Given the description of an element on the screen output the (x, y) to click on. 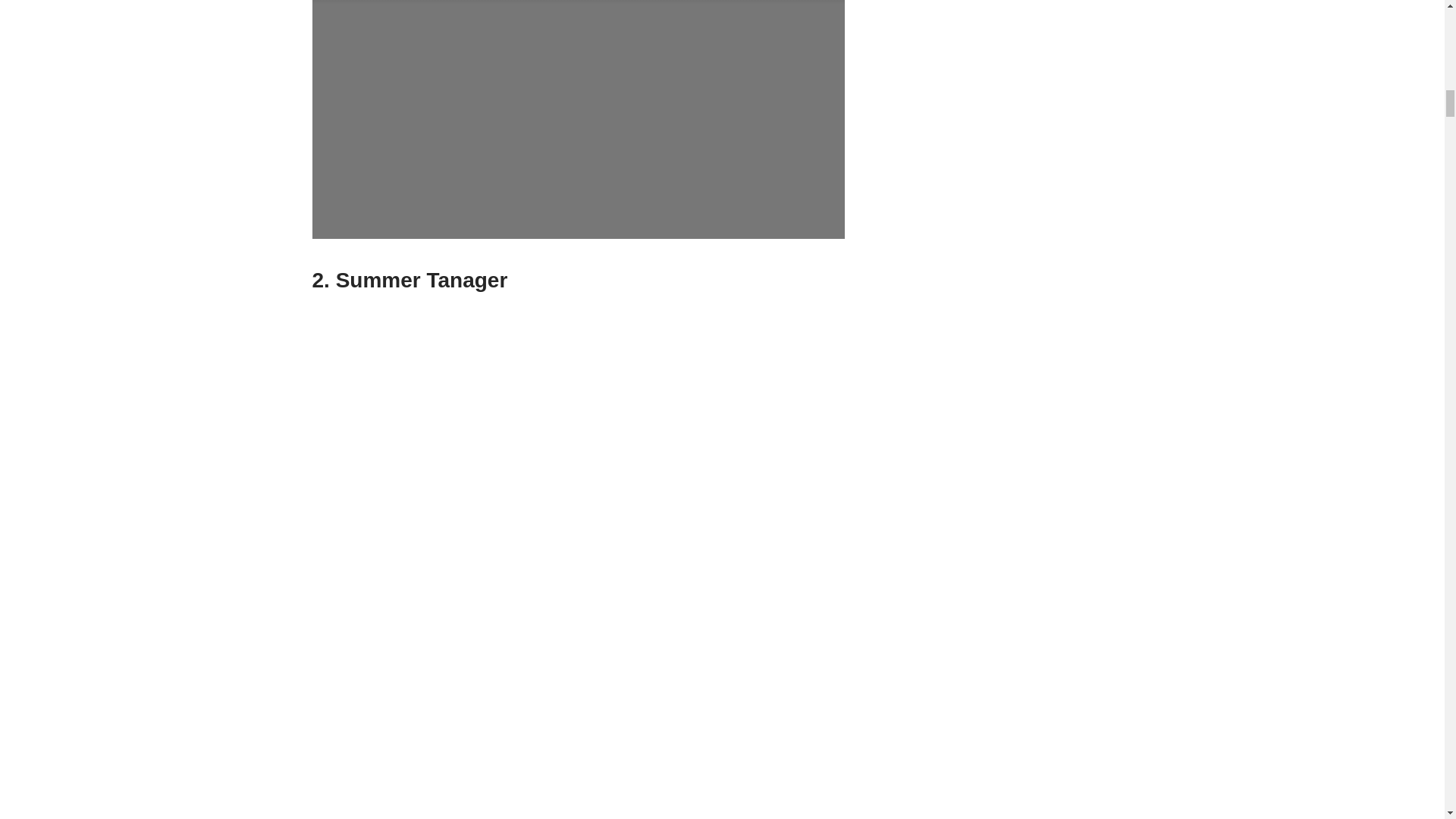
Close-up Video of a Scarlet Tanager (578, 119)
